Given the description of an element on the screen output the (x, y) to click on. 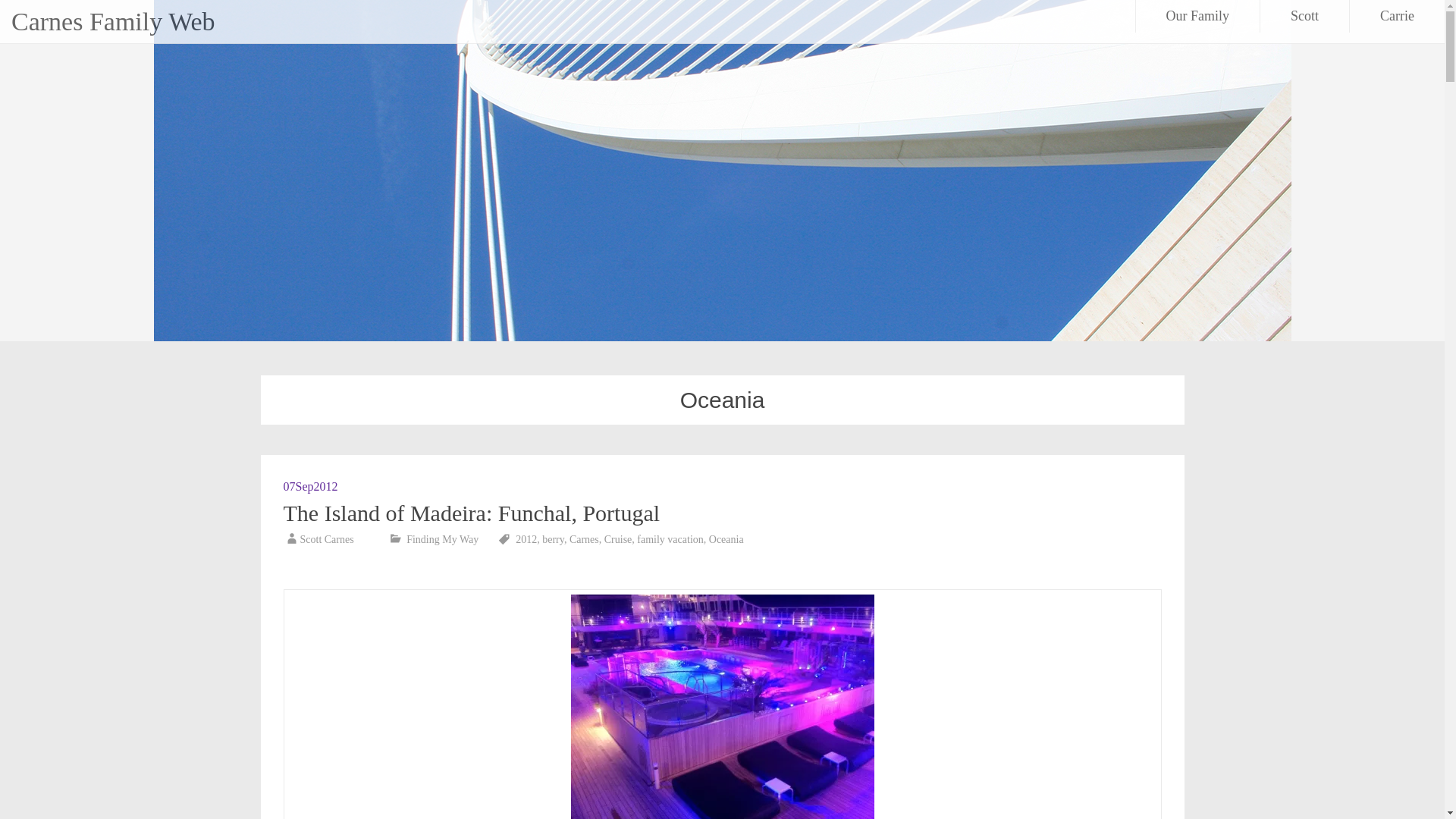
Scott Carnes (326, 539)
Our Family (1197, 16)
berry (552, 539)
Scott (1304, 16)
Oceania (726, 539)
Finding My Way (442, 539)
Carnes Family Web (113, 21)
07Sep2012 (310, 486)
family vacation (670, 539)
Cruise (617, 539)
2012 (526, 539)
Carnes (583, 539)
The Island of Madeira: Funchal, Portugal (472, 512)
7:17 pm (310, 486)
Carnes Family Web (113, 21)
